Given the description of an element on the screen output the (x, y) to click on. 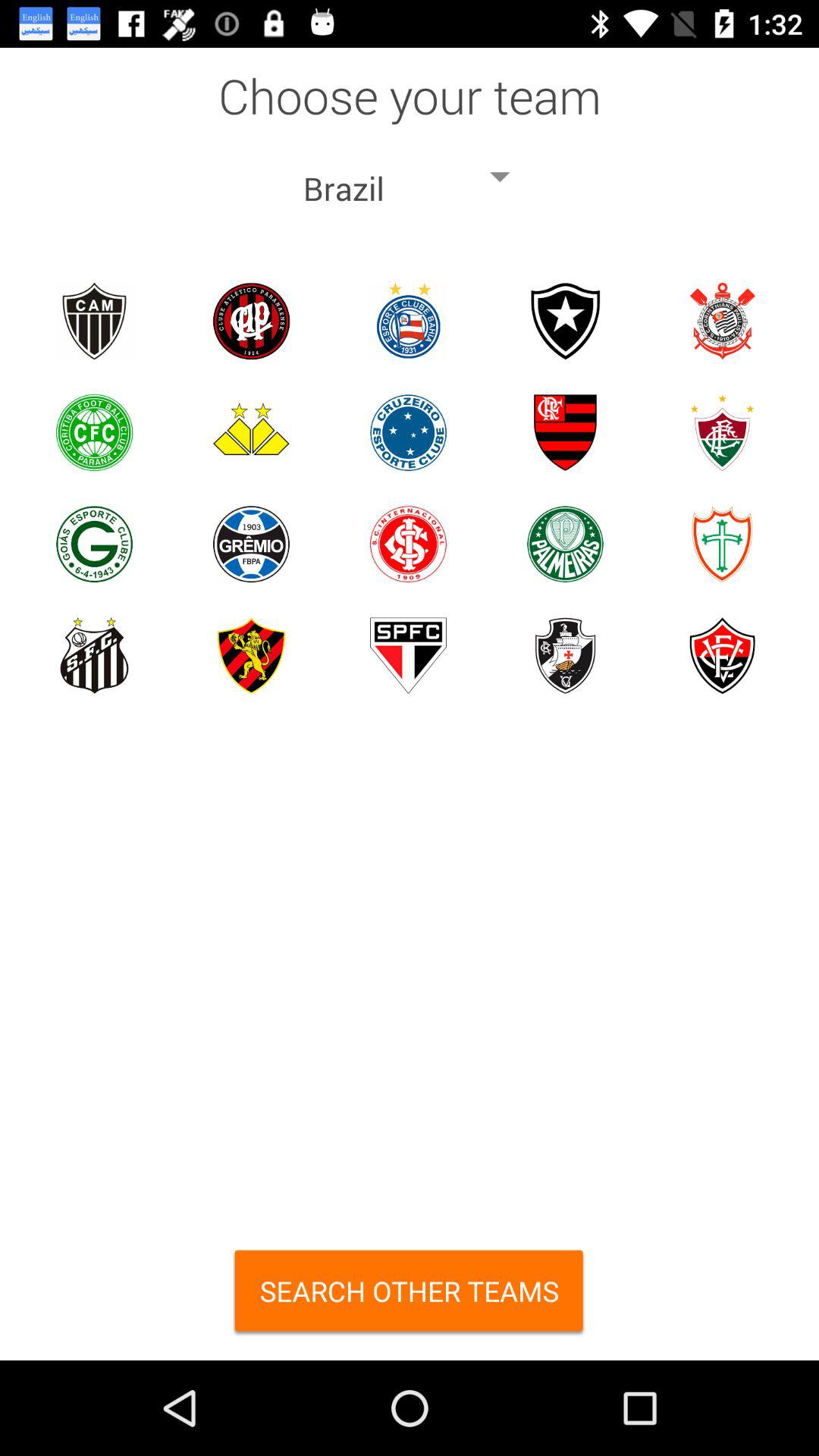
pick palmeiras team (565, 544)
